Given the description of an element on the screen output the (x, y) to click on. 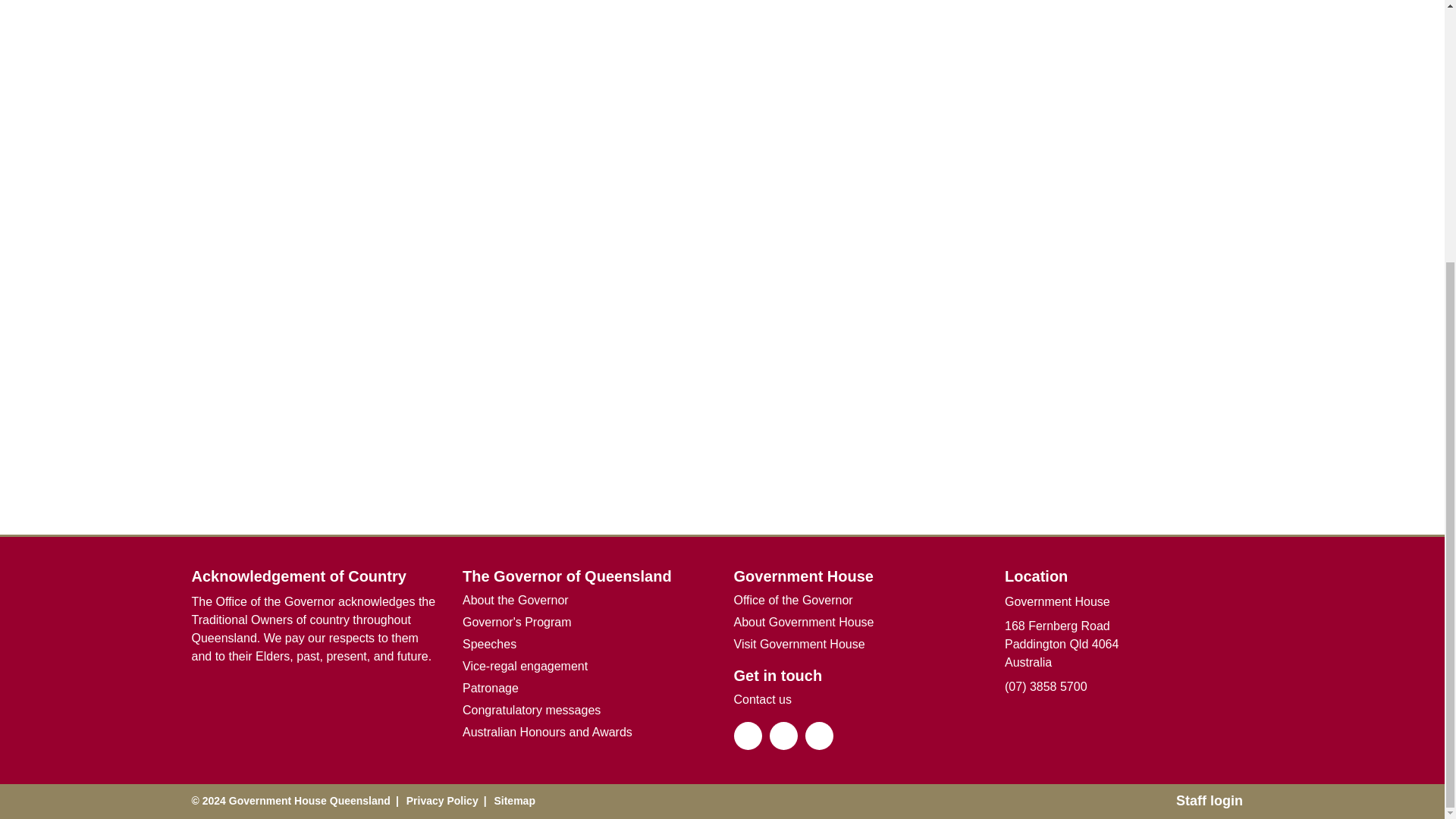
Speeches (489, 644)
About the Governor (516, 599)
Governor's Program (517, 621)
Vice-regal engagement (525, 666)
